Given the description of an element on the screen output the (x, y) to click on. 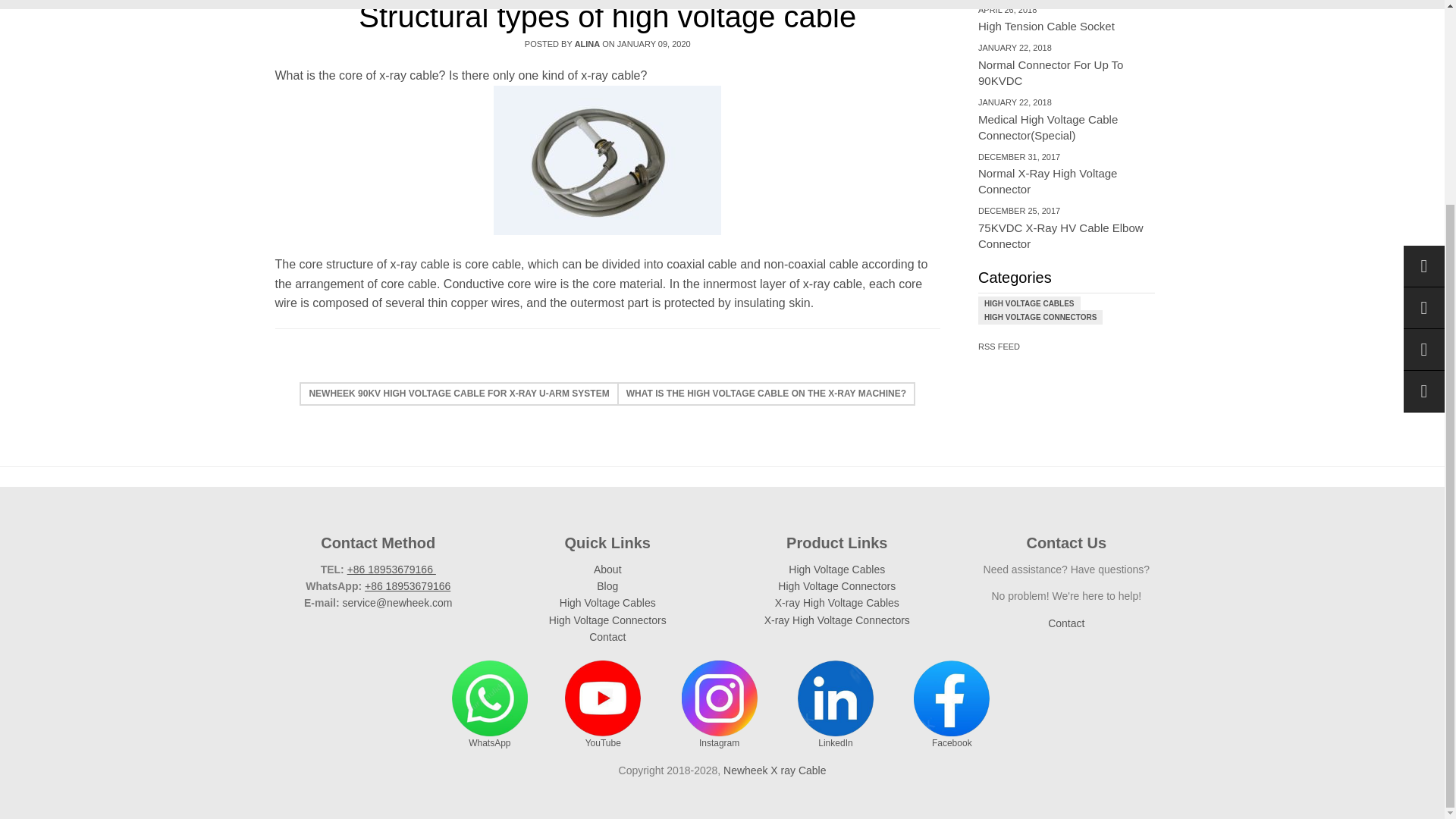
RSS FEED (1066, 227)
NEWHEEK 90KV HIGH VOLTAGE CABLE FOR X-RAY U-ARM SYSTEM (999, 346)
WHAT IS THE HIGH VOLTAGE CABLE ON THE X-RAY MACHINE? (458, 393)
Newheek X ray Cable (766, 393)
HIGH VOLTAGE CABLES (1066, 64)
HIGH VOLTAGE CONNECTORS (1066, 173)
Structural types of high voltage cable (774, 770)
